Given the description of an element on the screen output the (x, y) to click on. 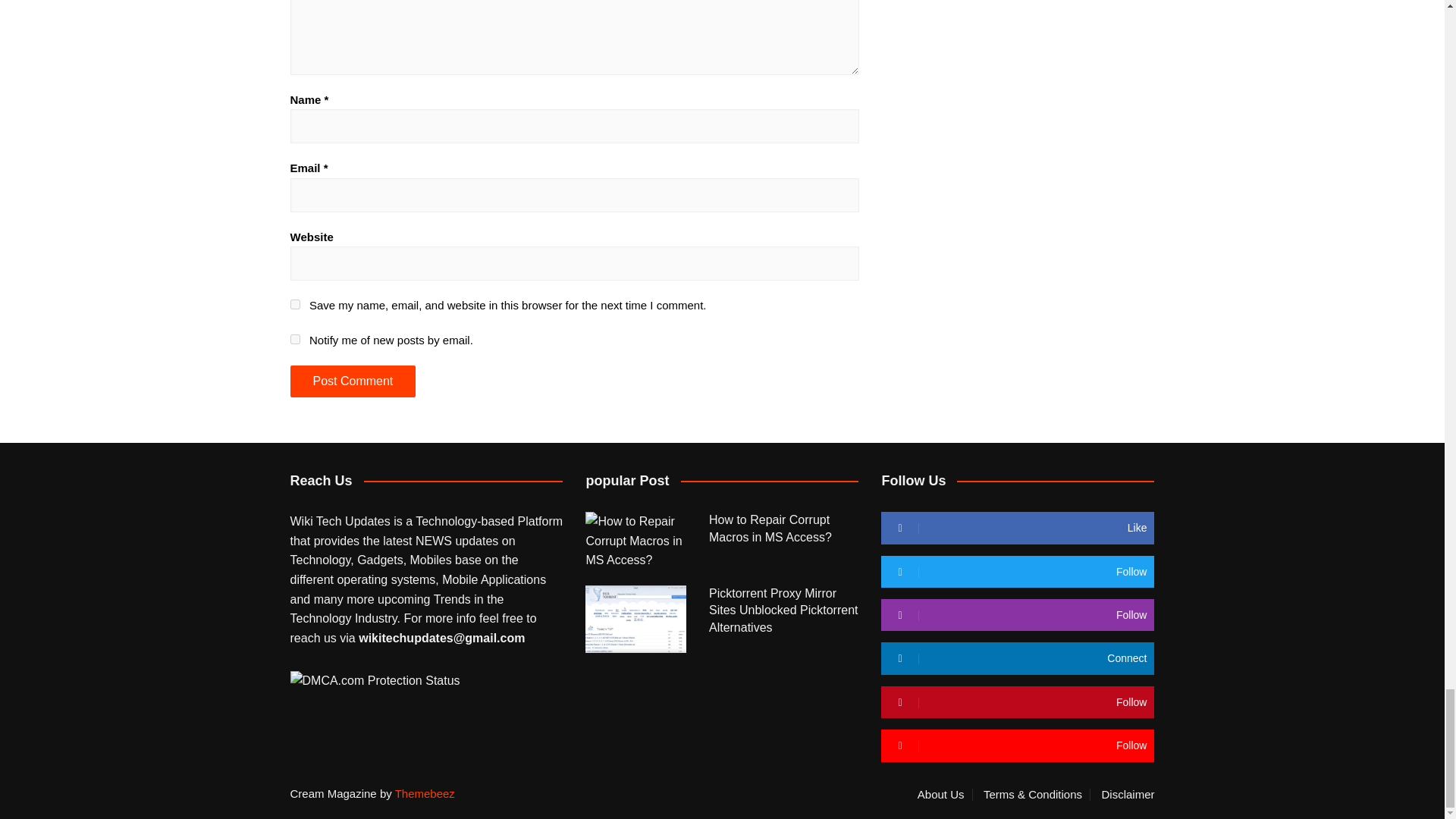
yes (294, 304)
DMCA.com Protection Status (374, 679)
subscribe (294, 338)
Post Comment (351, 381)
